Given the description of an element on the screen output the (x, y) to click on. 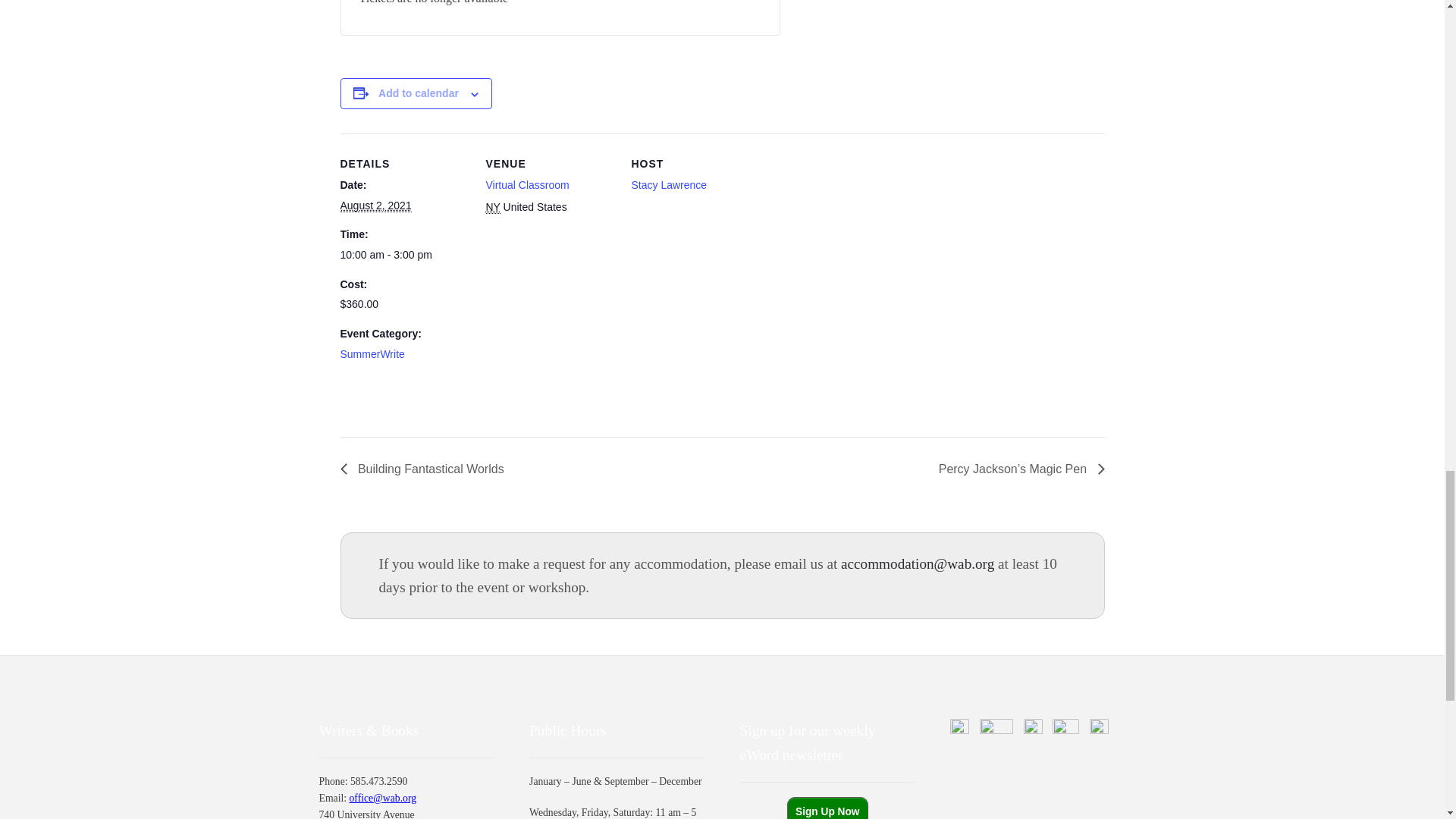
Stacy Lawrence (668, 184)
2021-08-02 (374, 205)
New York (491, 206)
2021-08-02 (403, 254)
